Given the description of an element on the screen output the (x, y) to click on. 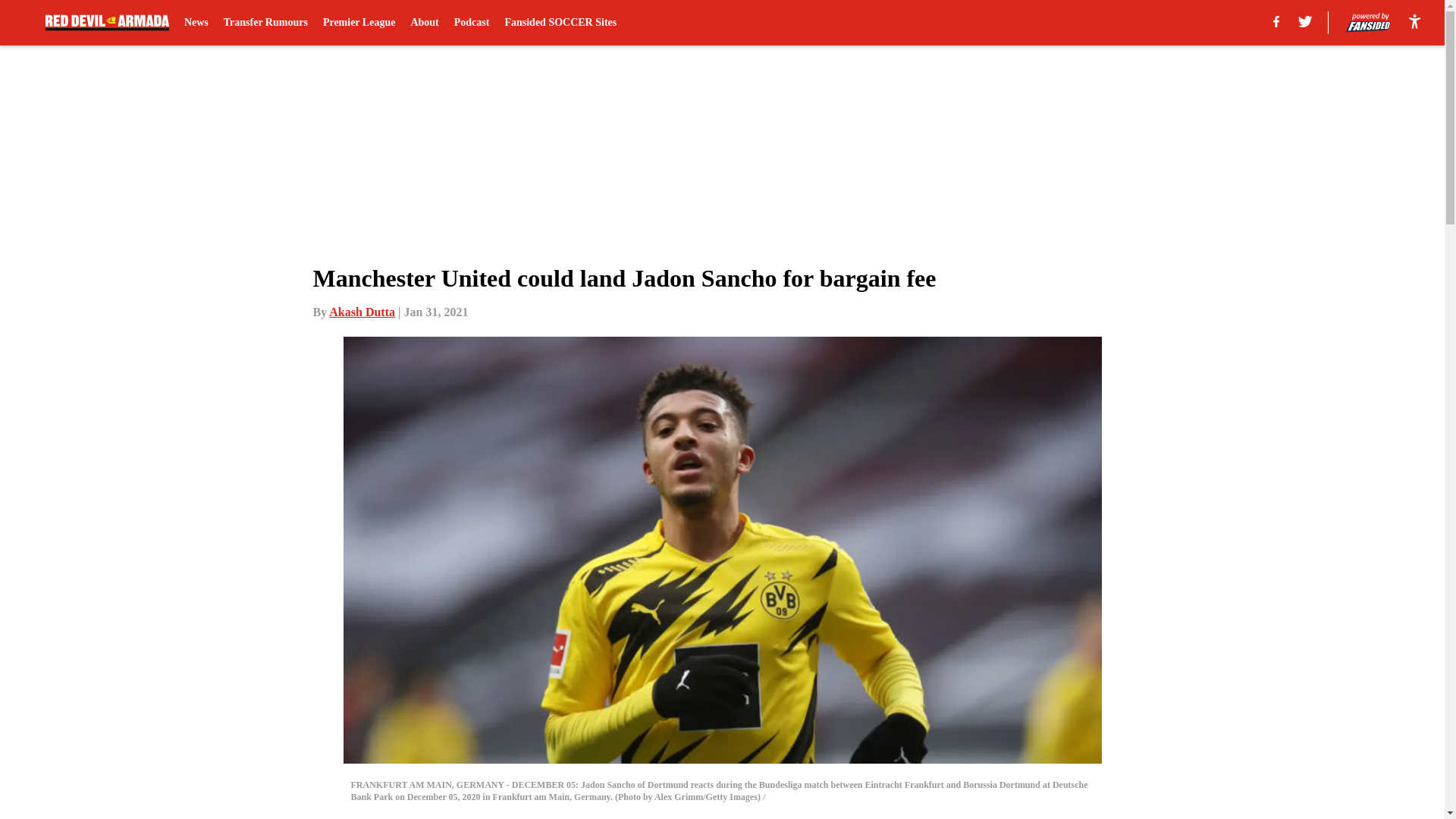
Transfer Rumours (265, 22)
Premier League (359, 22)
Podcast (471, 22)
Akash Dutta (361, 311)
Fansided SOCCER Sites (559, 22)
News (196, 22)
About (424, 22)
